Given the description of an element on the screen output the (x, y) to click on. 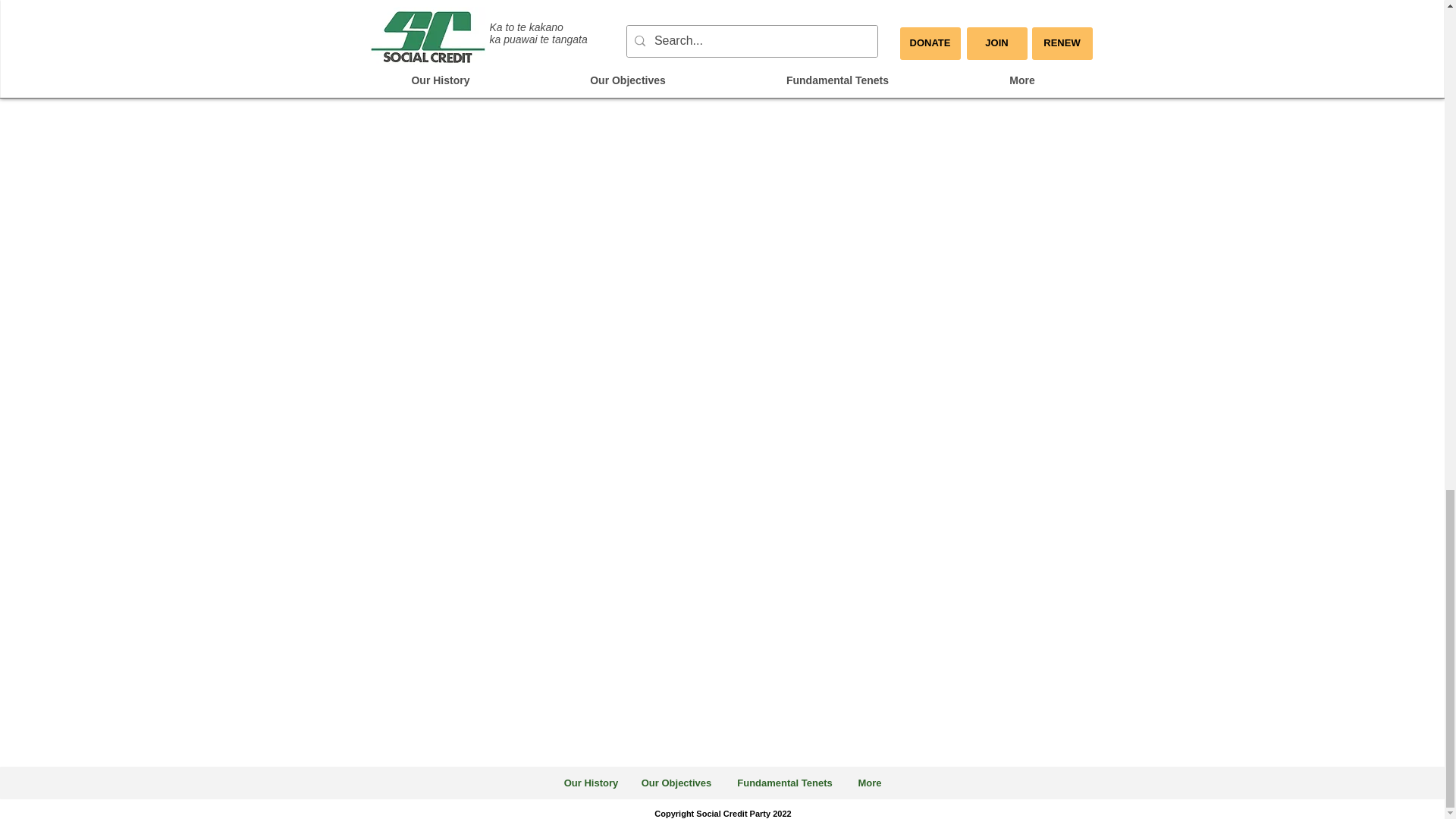
Our History (589, 782)
More (868, 782)
Fundamental Tenets (783, 782)
Our Objectives (675, 782)
